Given the description of an element on the screen output the (x, y) to click on. 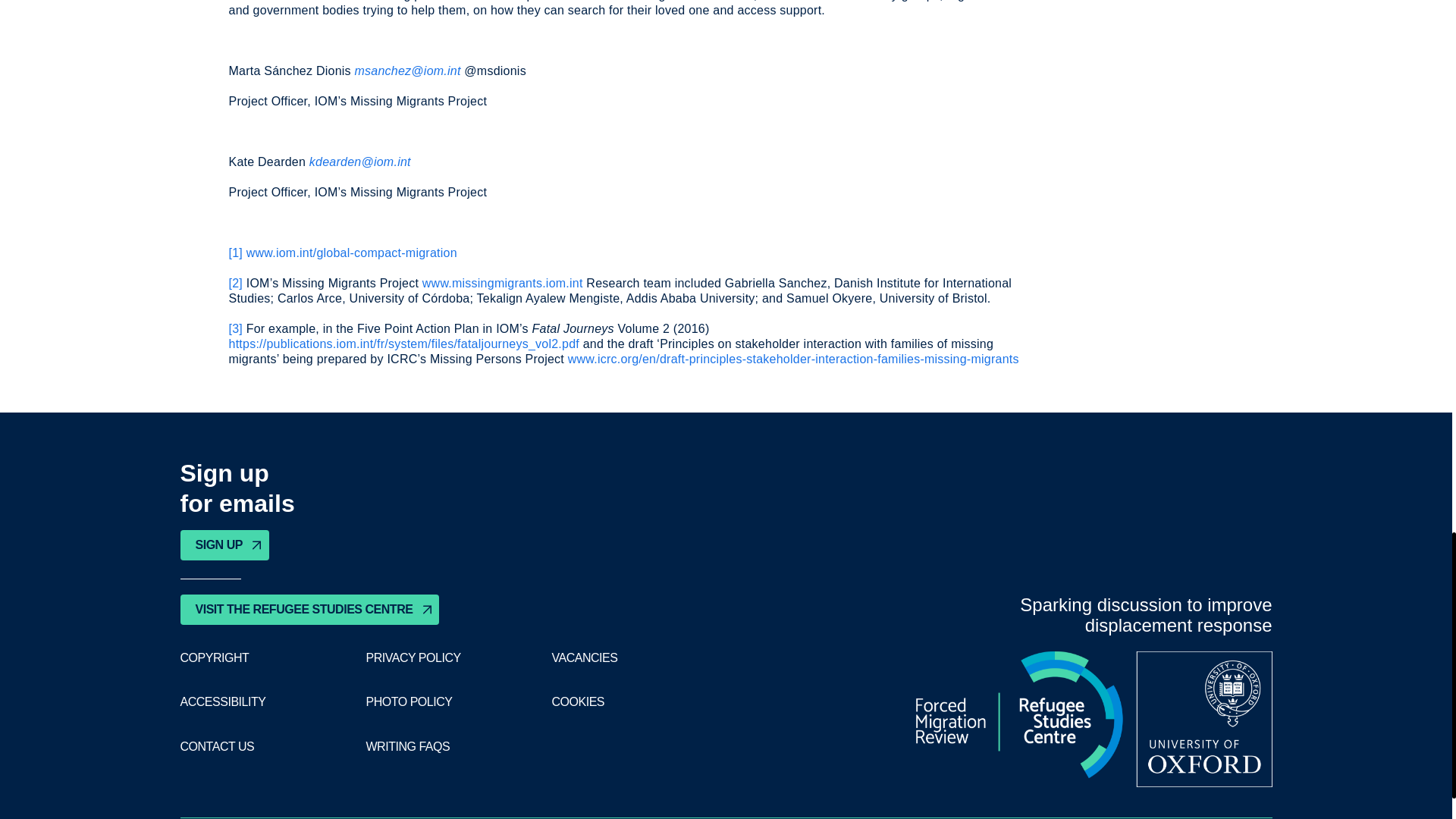
PRIVACY POLICY (412, 658)
COPYRIGHT (214, 658)
ACCESSIBILITY (223, 702)
WRITING FAQS (407, 746)
PHOTO POLICY (408, 702)
SIGN UP (224, 544)
VISIT THE REFUGEE STUDIES CENTRE (309, 609)
CONTACT US (217, 746)
www.missingmigrants.iom.int (502, 282)
